Given the description of an element on the screen output the (x, y) to click on. 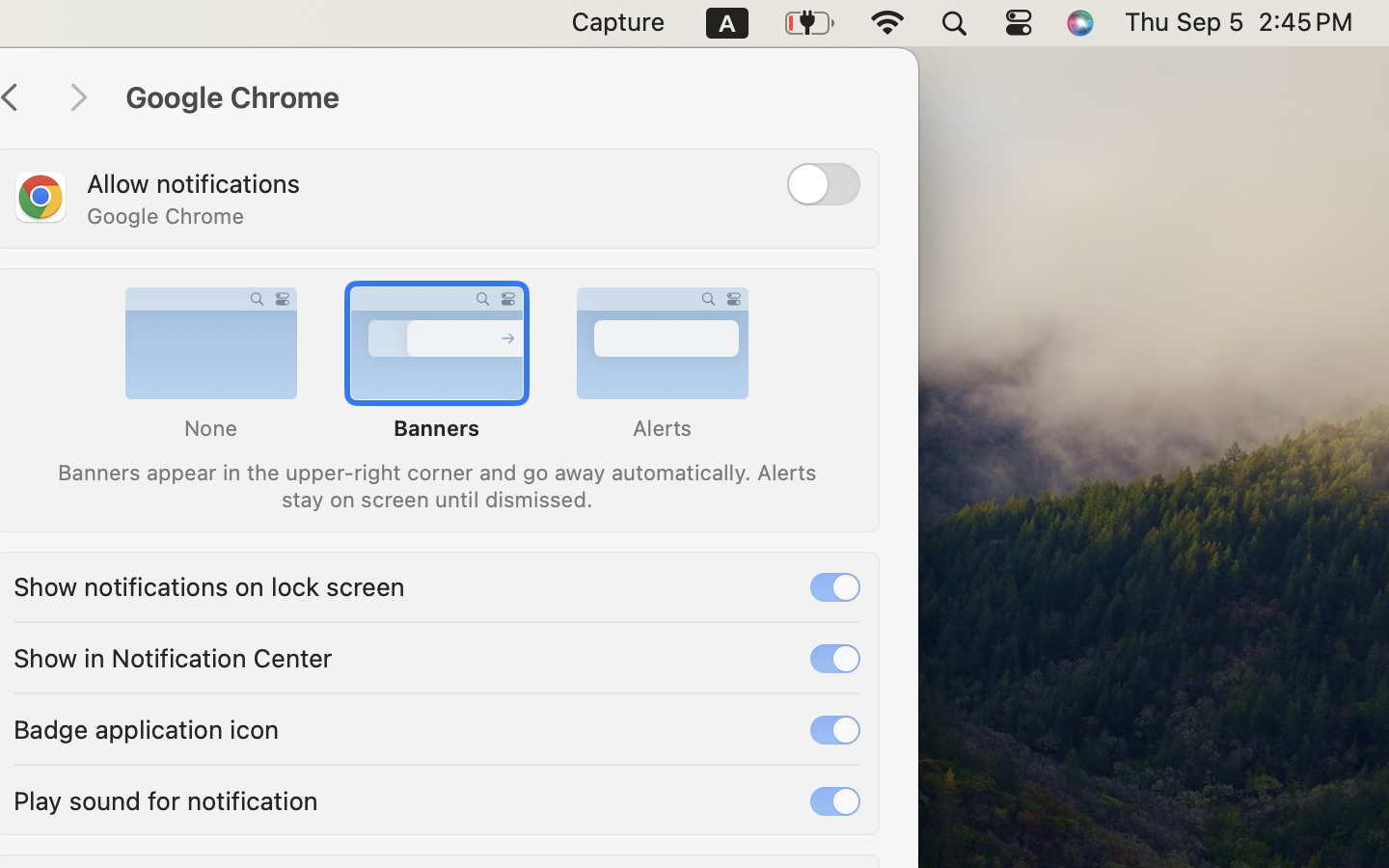
Google Chrome Element type: AXStaticText (501, 98)
Show notifications on lock screen Element type: AXStaticText (209, 584)
Allow notifications Element type: AXStaticText (193, 182)
